Given the description of an element on the screen output the (x, y) to click on. 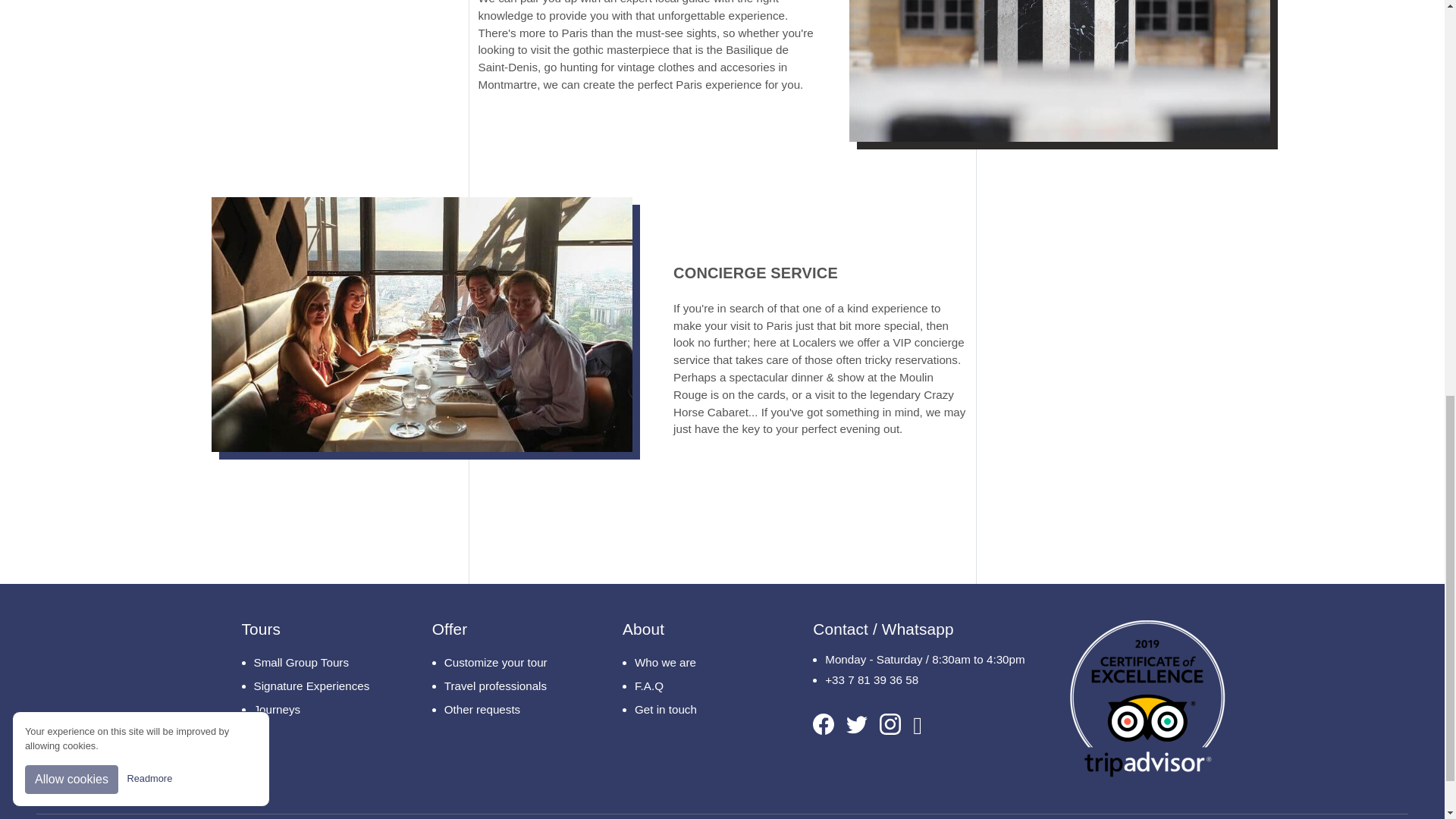
Travel professionals (504, 686)
Small Group Tours (313, 662)
Journeys (313, 709)
Customize your tour (504, 662)
Who we are (694, 662)
Get in touch (694, 709)
Signature Experiences (313, 686)
F.A.Q (694, 686)
Other requests (504, 709)
